Given the description of an element on the screen output the (x, y) to click on. 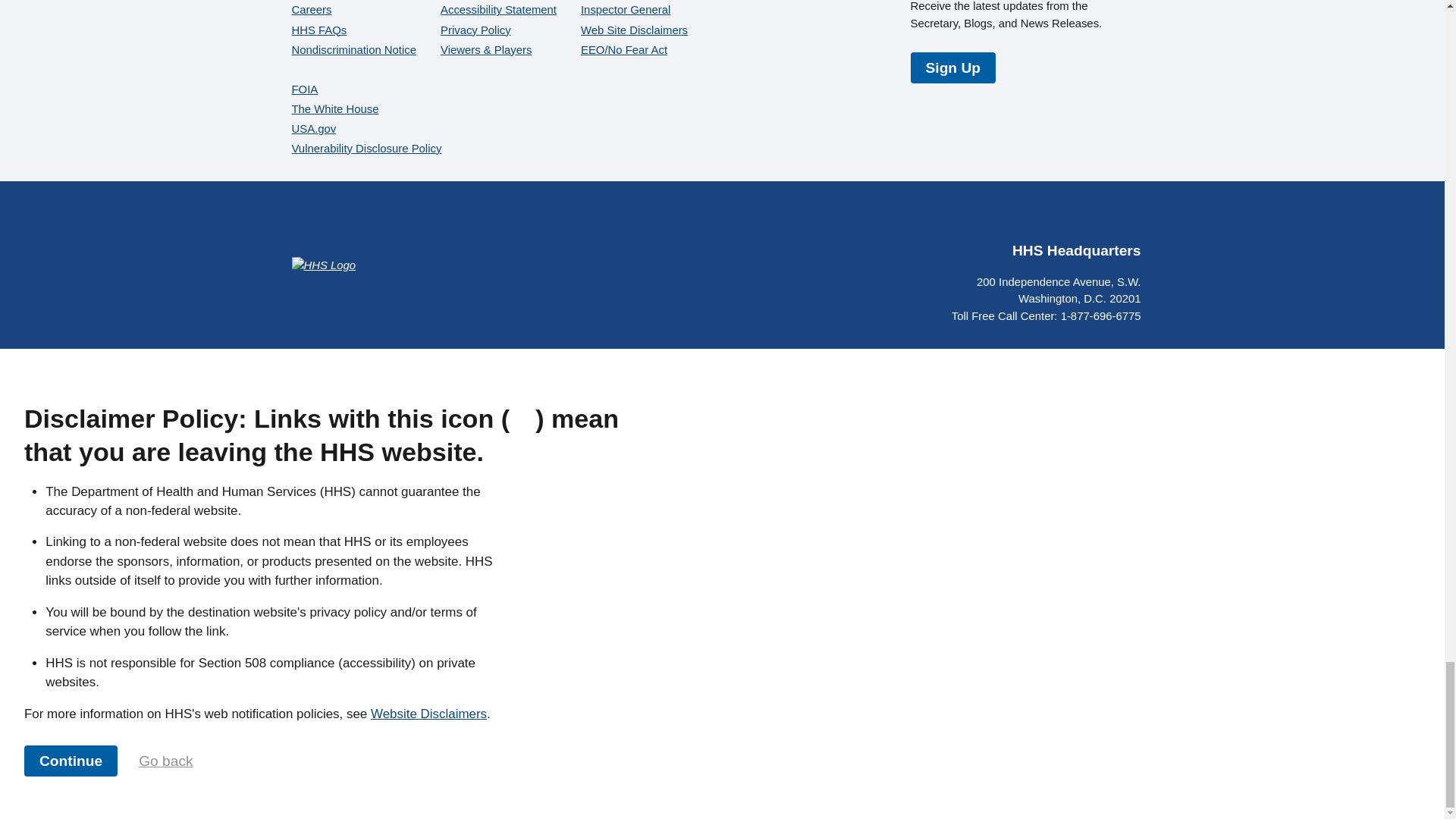
Visit the HHS X account (1018, 217)
Visit the HHS Facebook account (982, 217)
Visit the HHS LinkedIn account (1128, 217)
Visit the HHS YouTube account (1055, 217)
Visit the HHS Instagram account (1091, 217)
